Given the description of an element on the screen output the (x, y) to click on. 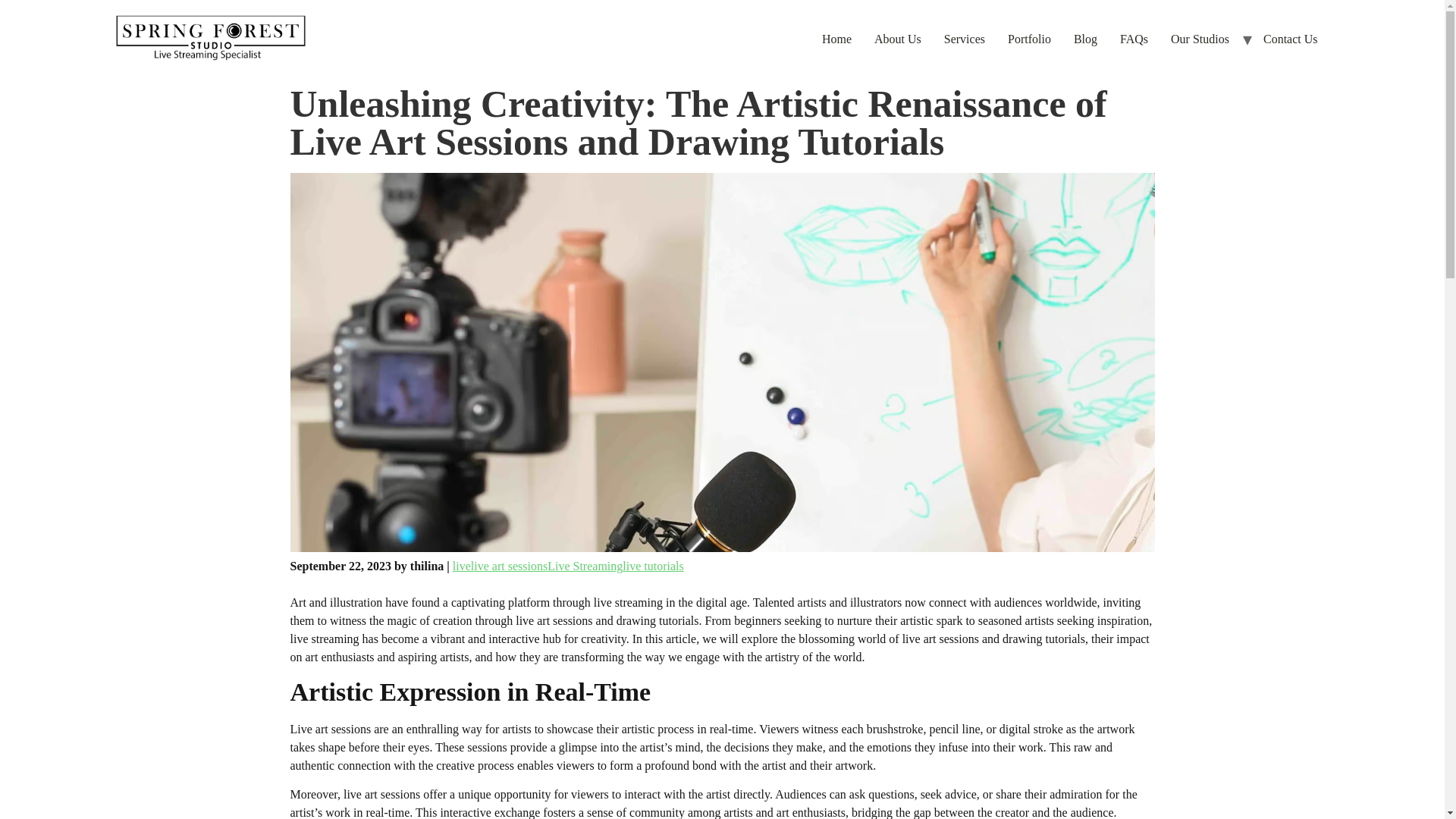
live (461, 565)
Portfolio (1028, 39)
live art sessions (508, 565)
Services (964, 39)
FAQs (1133, 39)
Blog (1085, 39)
live tutorials (652, 565)
About Us (898, 39)
Contact Us (1290, 39)
Live Streaming (585, 565)
